Given the description of an element on the screen output the (x, y) to click on. 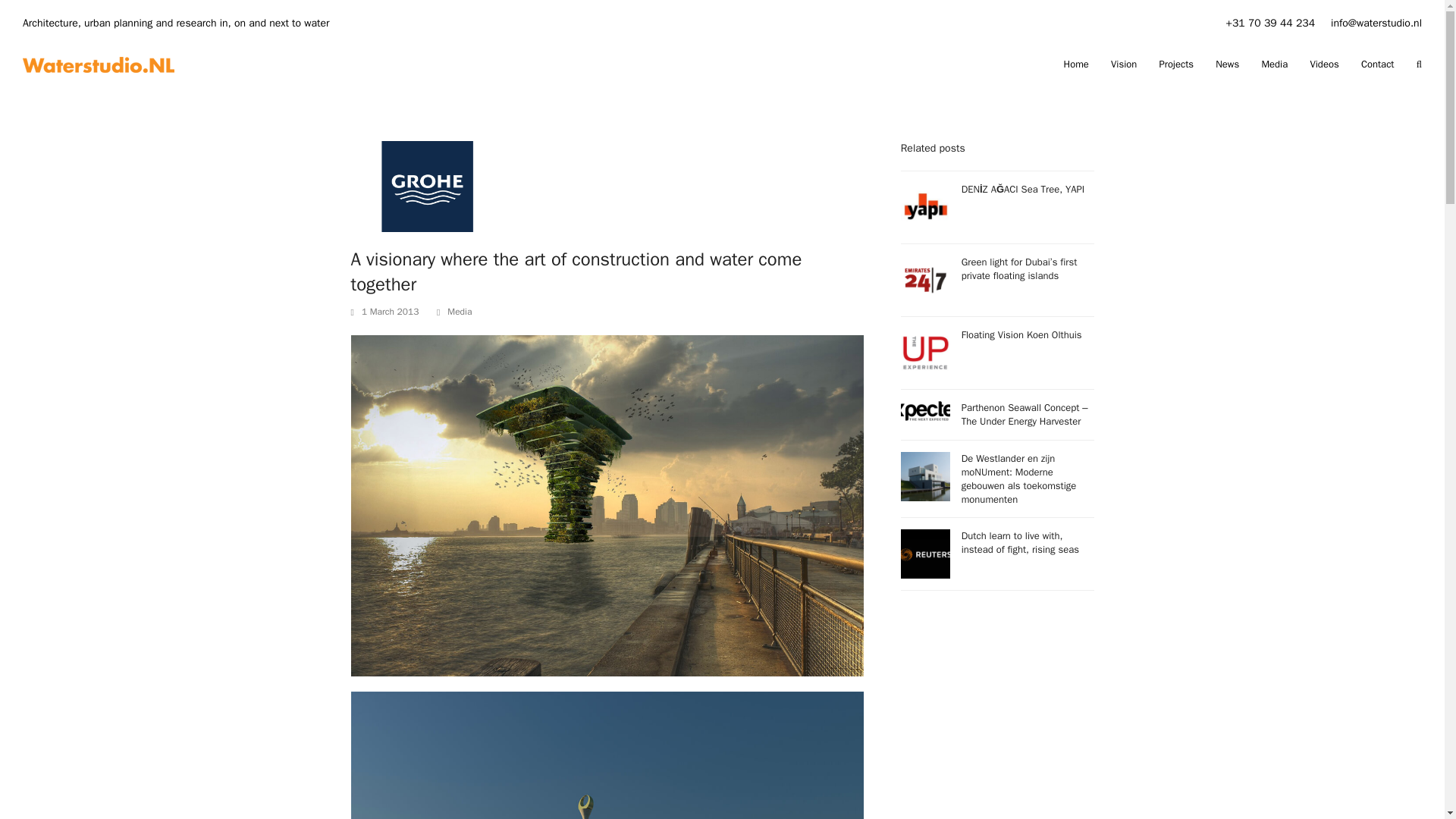
Floating Vision Koen Olthuis (997, 352)
Dutch learn to live with, instead of fight, rising seas (997, 553)
Media (458, 311)
Projects (1175, 64)
